Given the description of an element on the screen output the (x, y) to click on. 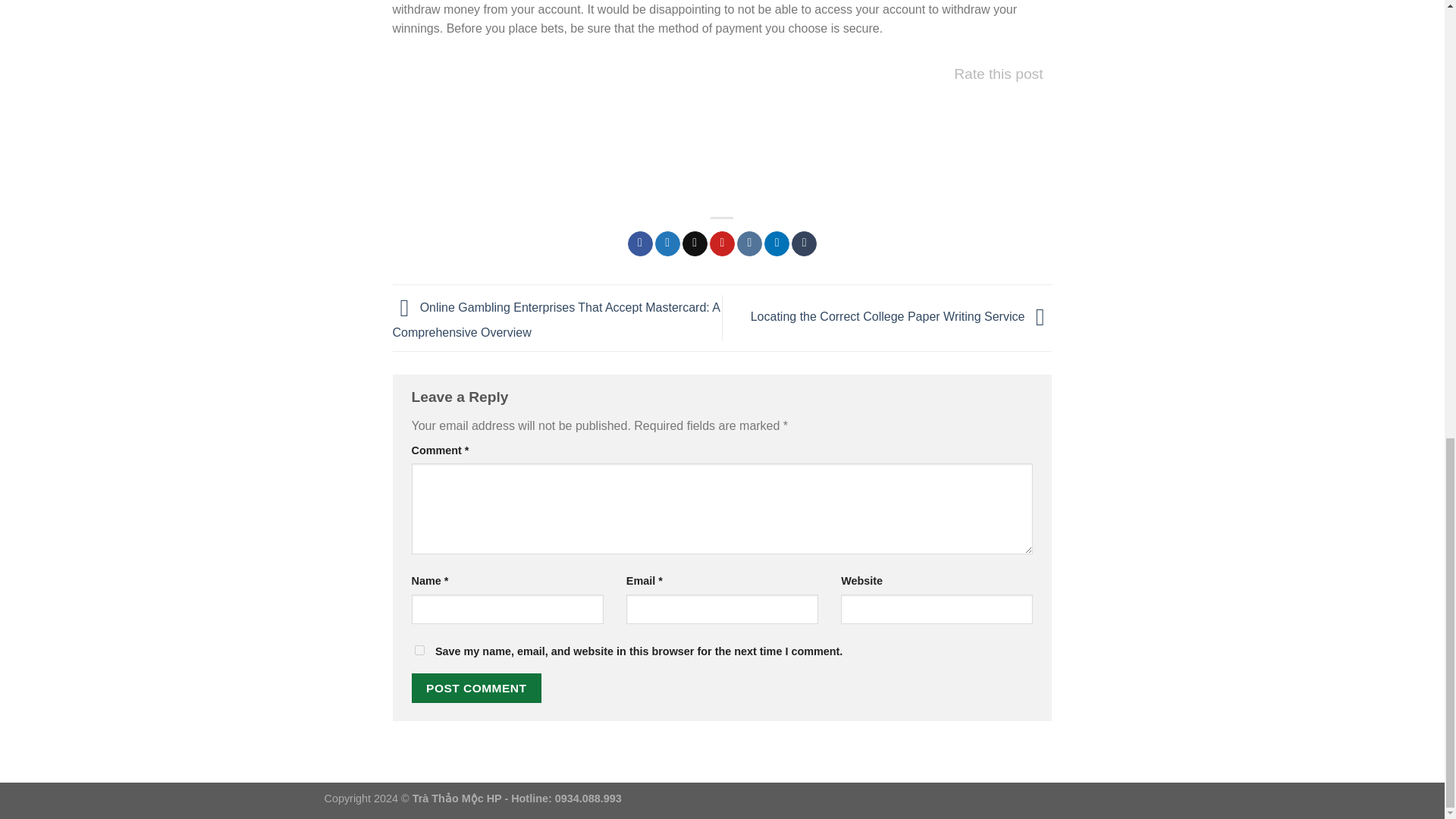
Share on Twitter (667, 243)
Share on Facebook (639, 243)
Post Comment (475, 687)
Pin on Pinterest (722, 243)
yes (418, 650)
Locating the Correct College Paper Writing Service (901, 317)
Share on VKontakte (748, 243)
Email to a Friend (694, 243)
Share on Tumblr (804, 243)
Share on LinkedIn (776, 243)
Post Comment (475, 687)
